Given the description of an element on the screen output the (x, y) to click on. 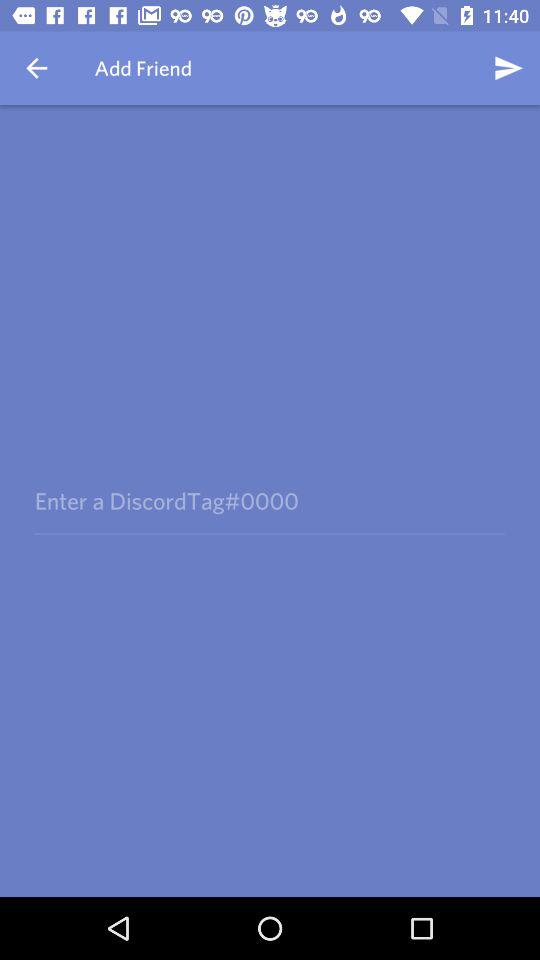
enter a username (269, 500)
